Given the description of an element on the screen output the (x, y) to click on. 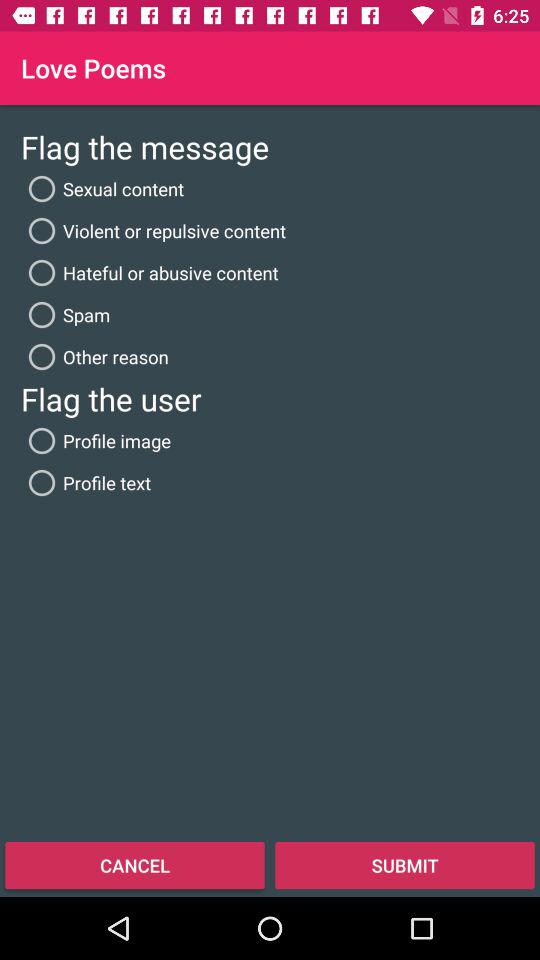
launch hateful or abusive (149, 272)
